Given the description of an element on the screen output the (x, y) to click on. 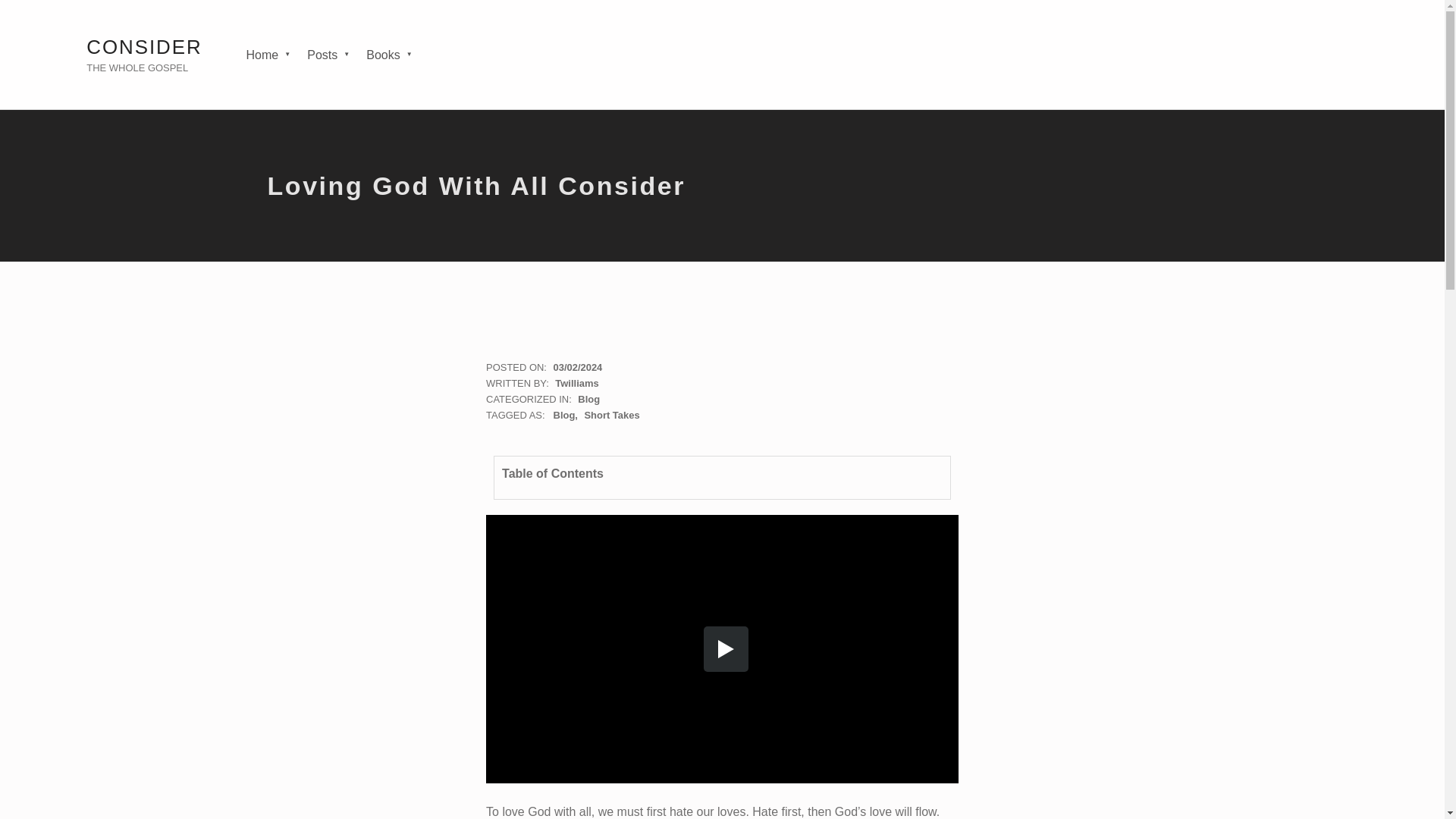
Blog (588, 398)
Blog (565, 414)
Posts (327, 54)
Books (388, 54)
Twilliams (576, 383)
Short Takes (611, 414)
CONSIDER (143, 46)
Home (268, 54)
Video Player (722, 648)
